Given the description of an element on the screen output the (x, y) to click on. 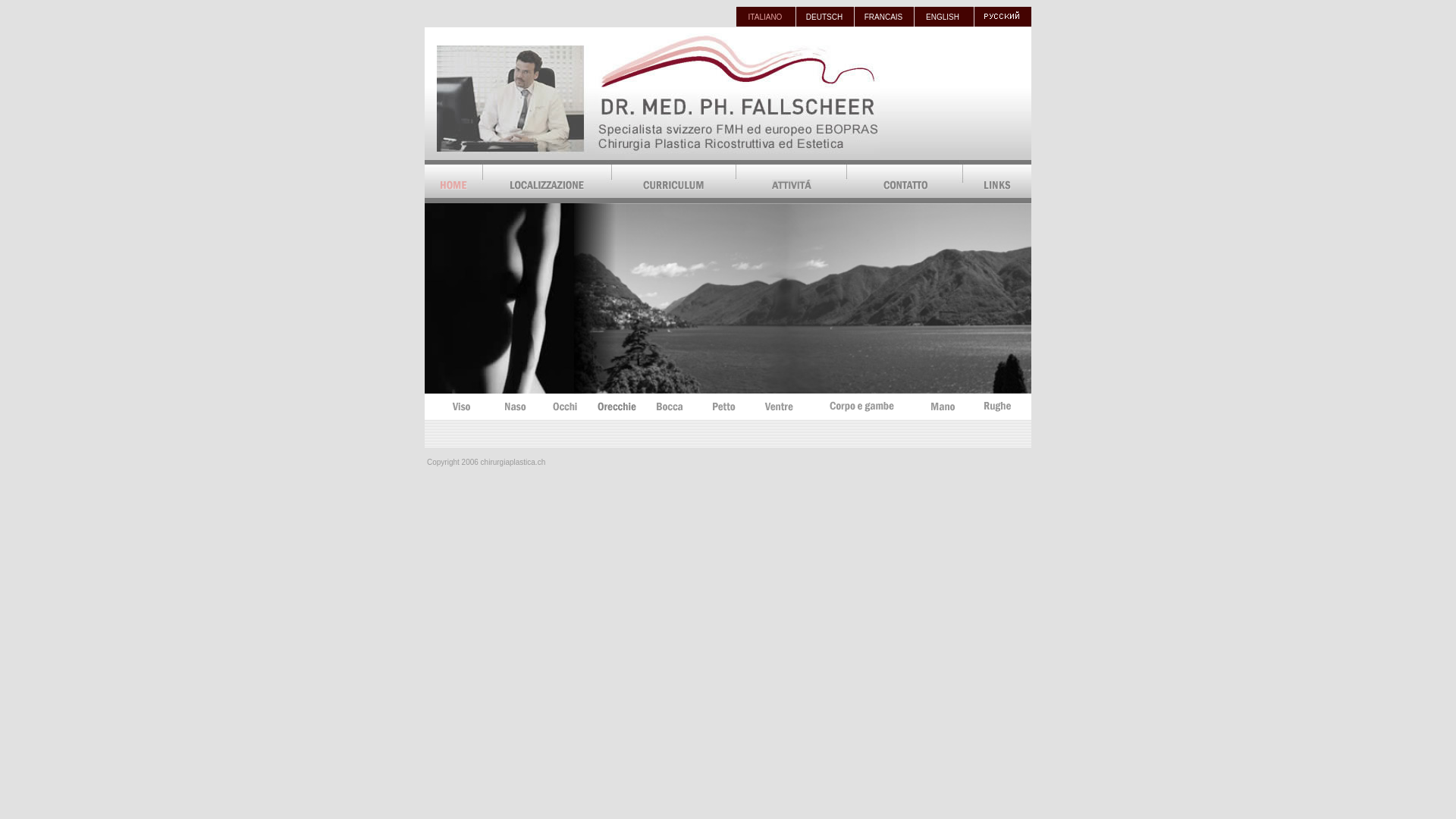
DEUTSCH Element type: text (824, 16)
ITALIANO Element type: text (765, 16)
FRANCAIS Element type: text (883, 16)
ENGLISH Element type: text (942, 16)
